Given the description of an element on the screen output the (x, y) to click on. 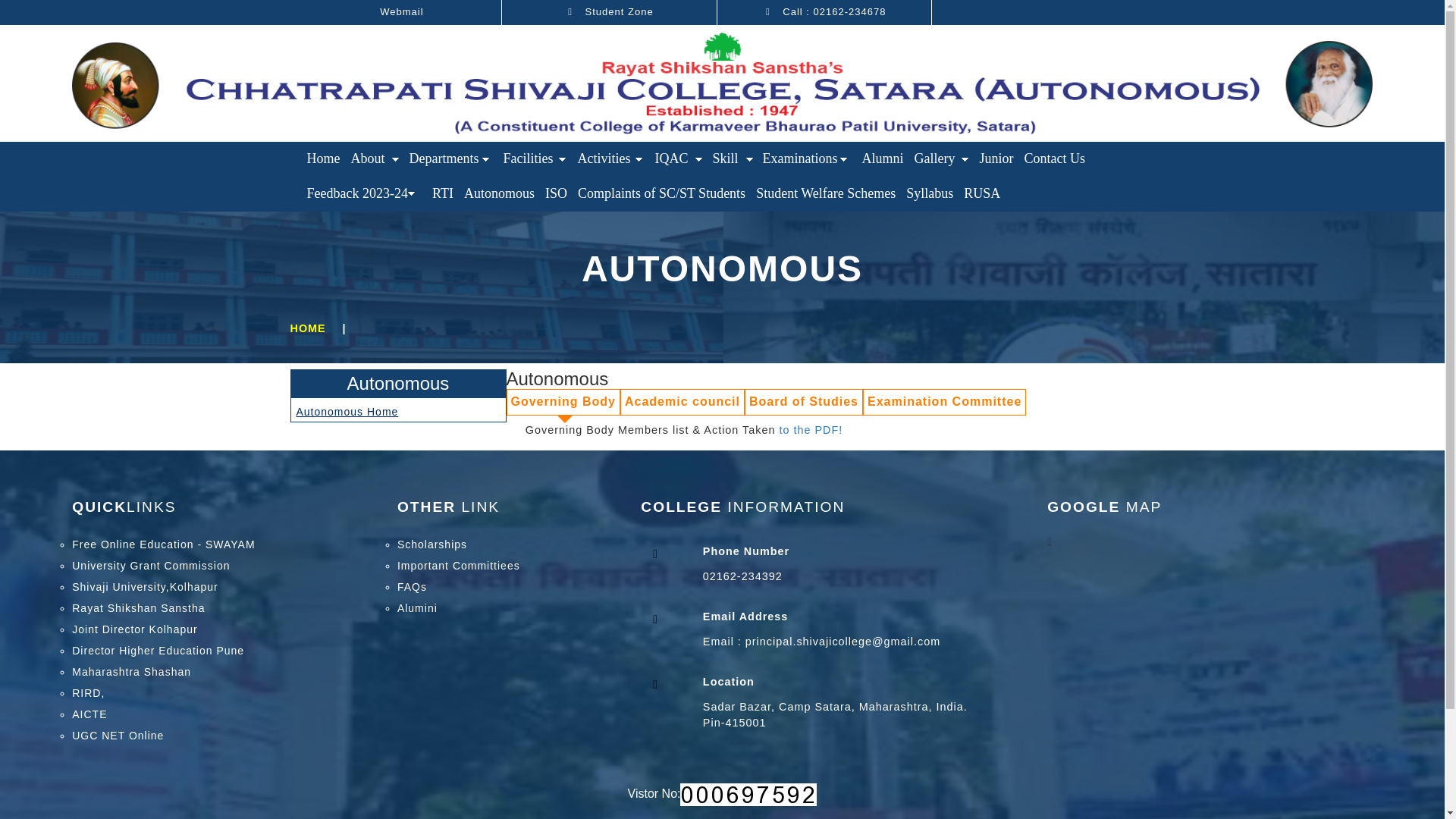
Activities (610, 158)
Departments (450, 158)
About (375, 158)
Webmail (395, 11)
Home (323, 158)
Facilities (534, 158)
